Given the description of an element on the screen output the (x, y) to click on. 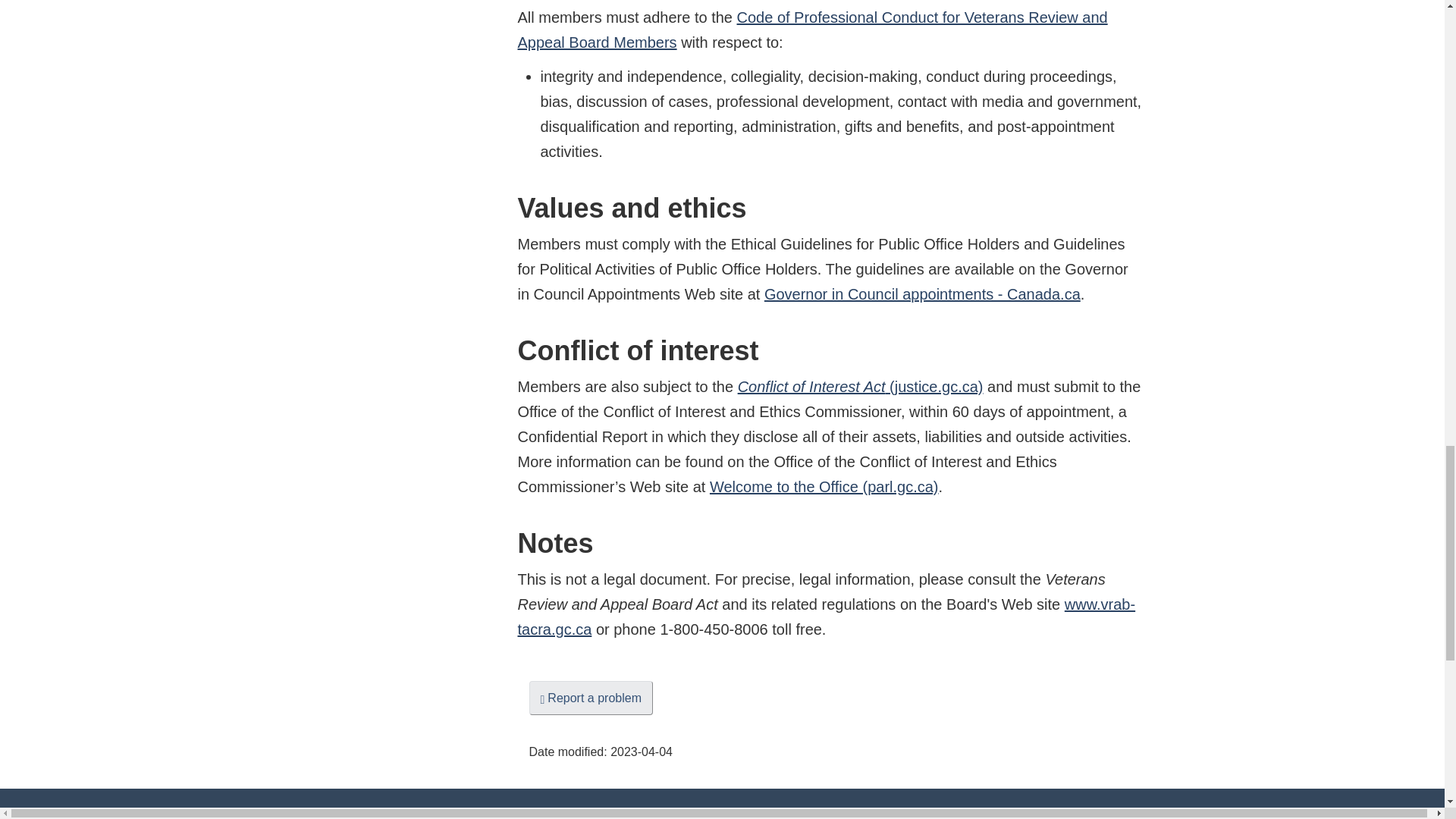
Code of Professional Conduct for Board Members (811, 29)
Veterans Review and Appeal Board web site (825, 617)
